Given the description of an element on the screen output the (x, y) to click on. 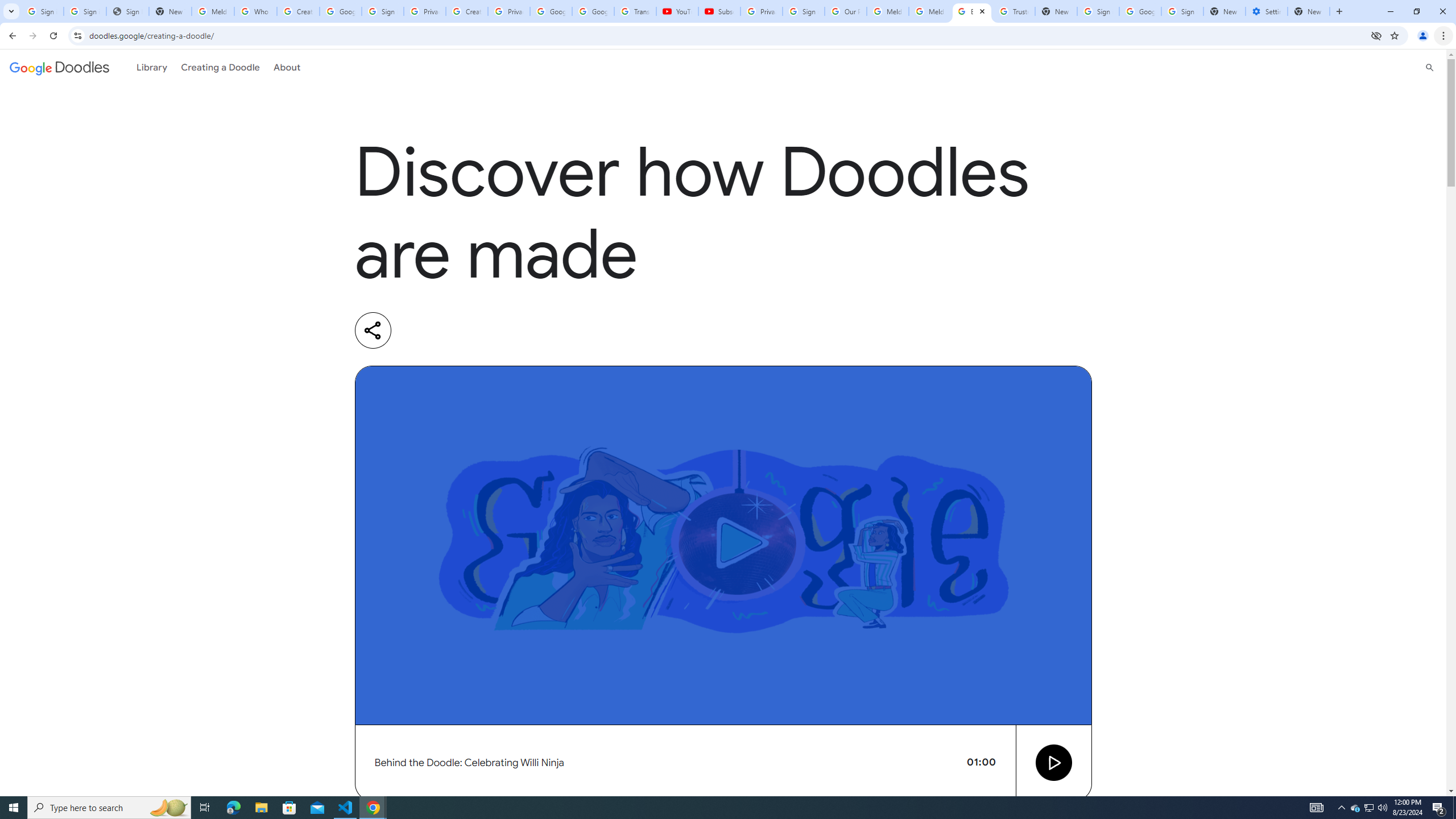
Subscriptions - YouTube (719, 11)
Library (151, 67)
Create your Google Account (298, 11)
Sign in - Google Accounts (1097, 11)
Google Cybersecurity Innovations - Google Safety Center (1139, 11)
Settings - Addresses and more (1266, 11)
Google doodles (59, 67)
Share on twitter (465, 330)
